Given the description of an element on the screen output the (x, y) to click on. 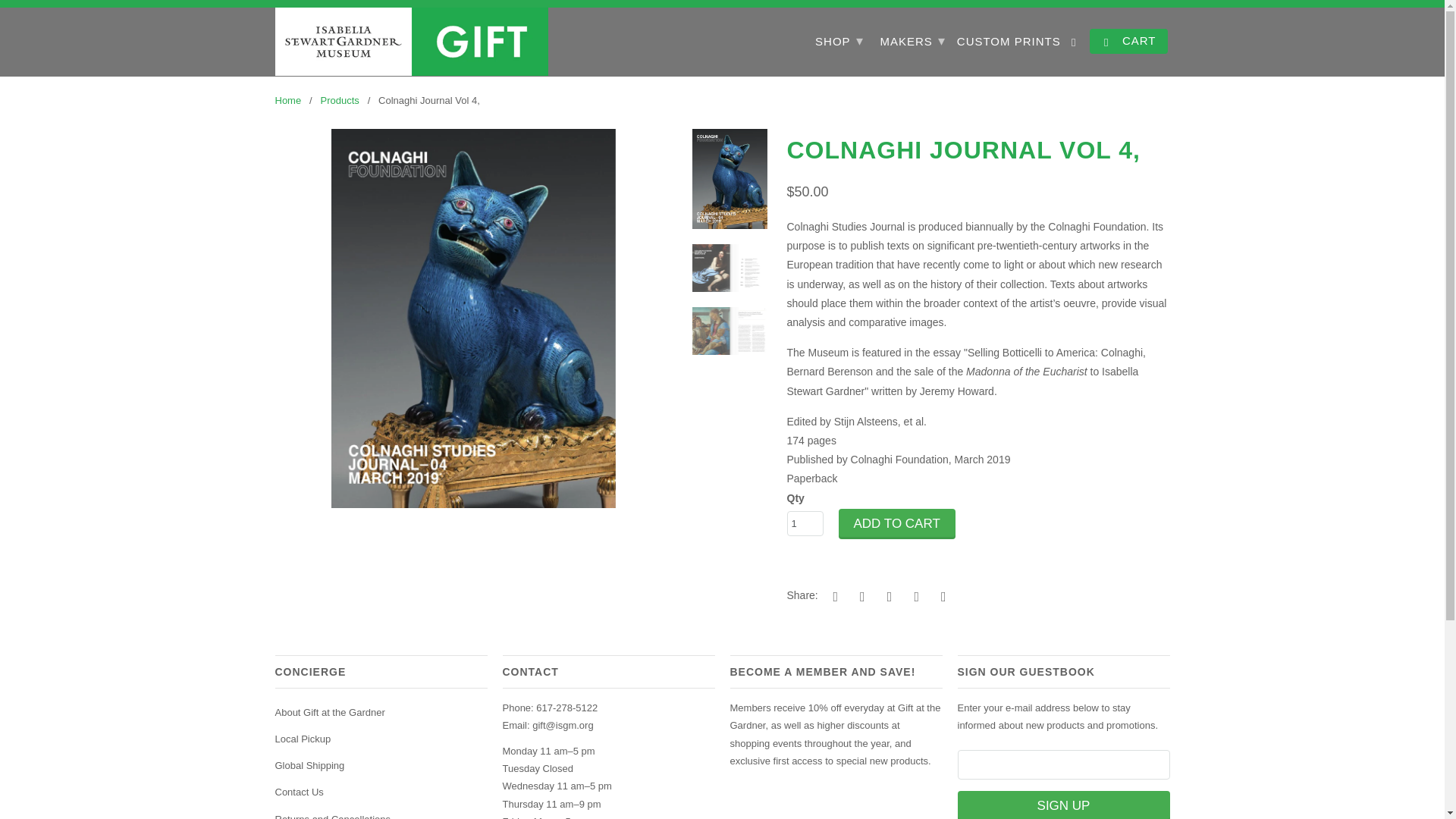
Share this on Facebook (859, 595)
Email this to a friend (940, 595)
Gift at the Gardner (411, 41)
Share this on Pinterest (887, 595)
Share this on Twitter (833, 595)
Products (339, 100)
Gift at the Gardner (288, 100)
Sign Up (1062, 805)
1 (805, 523)
